Given the description of an element on the screen output the (x, y) to click on. 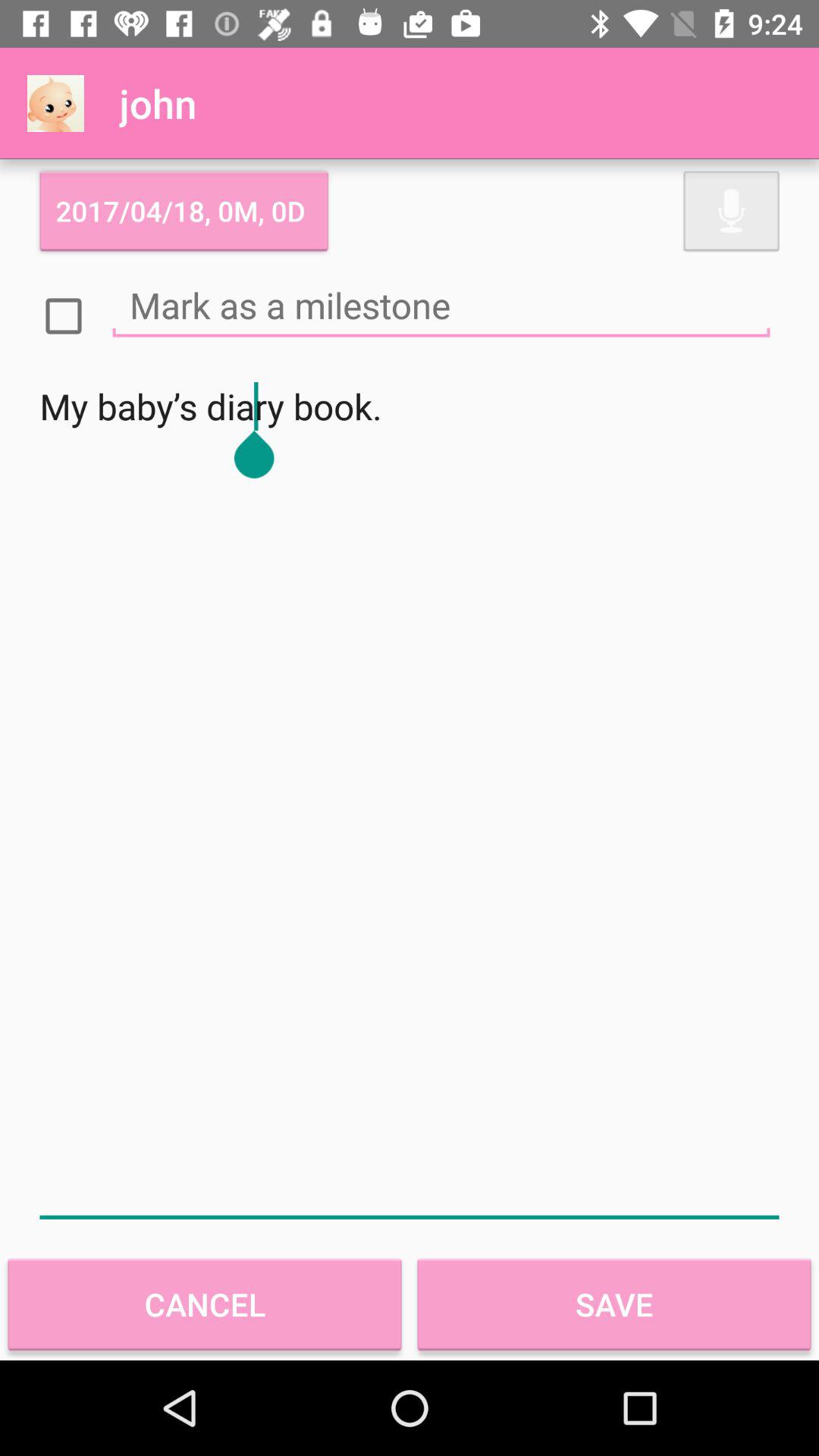
turn on the cancel (204, 1304)
